Given the description of an element on the screen output the (x, y) to click on. 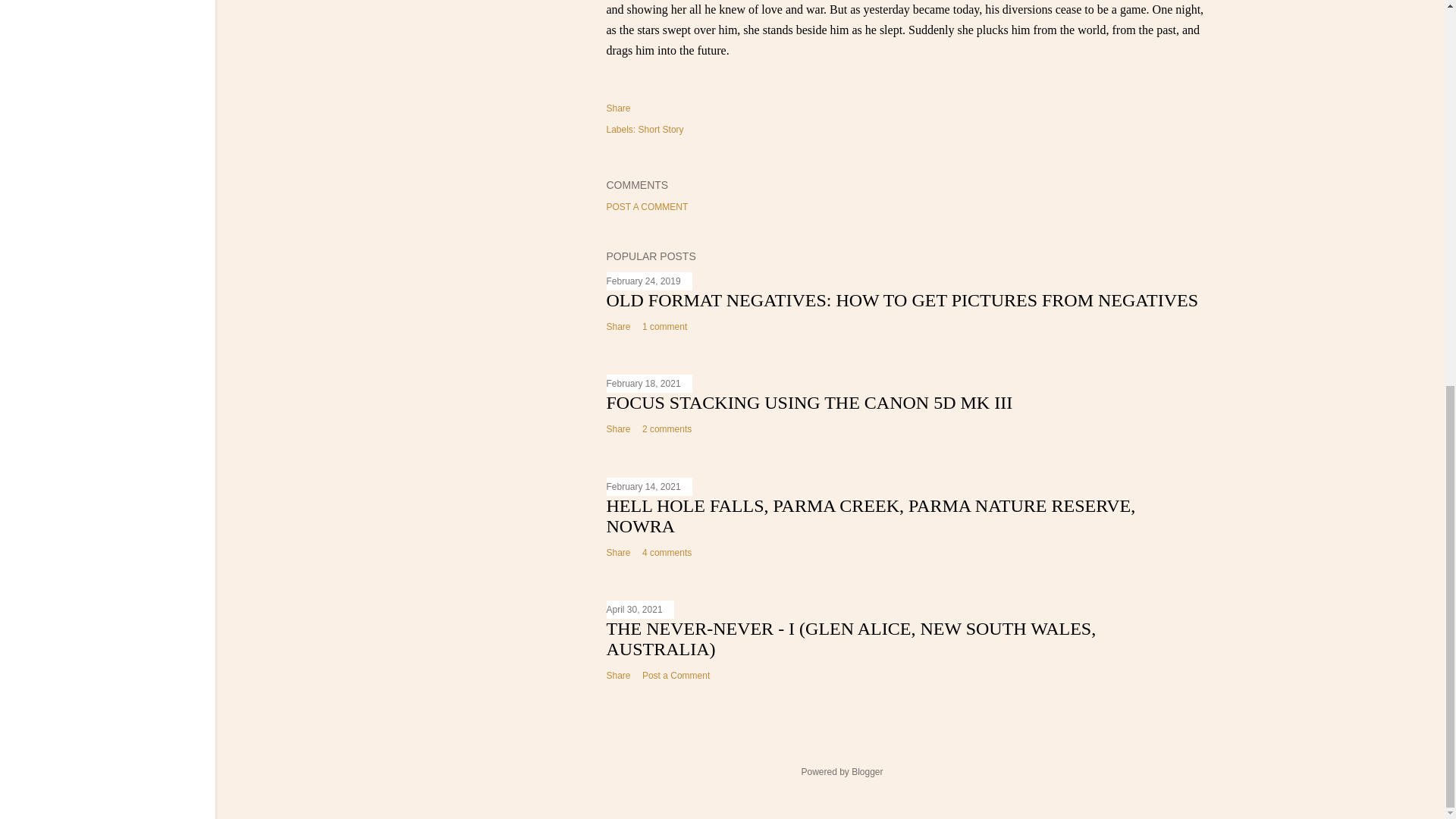
HELL HOLE FALLS, PARMA CREEK, PARMA NATURE RESERVE, NOWRA (871, 516)
February 24, 2019 (644, 281)
Short Story (661, 129)
Share (618, 429)
April 30, 2021 (634, 609)
February 18, 2021 (644, 383)
FOCUS STACKING USING THE CANON 5D MK III (810, 402)
Share (618, 326)
OLD FORMAT NEGATIVES: HOW TO GET PICTURES FROM NEGATIVES (902, 300)
POST A COMMENT (647, 206)
Share (618, 552)
2 comments (666, 429)
permanent link (644, 281)
1 comment (664, 326)
Share (618, 108)
